Given the description of an element on the screen output the (x, y) to click on. 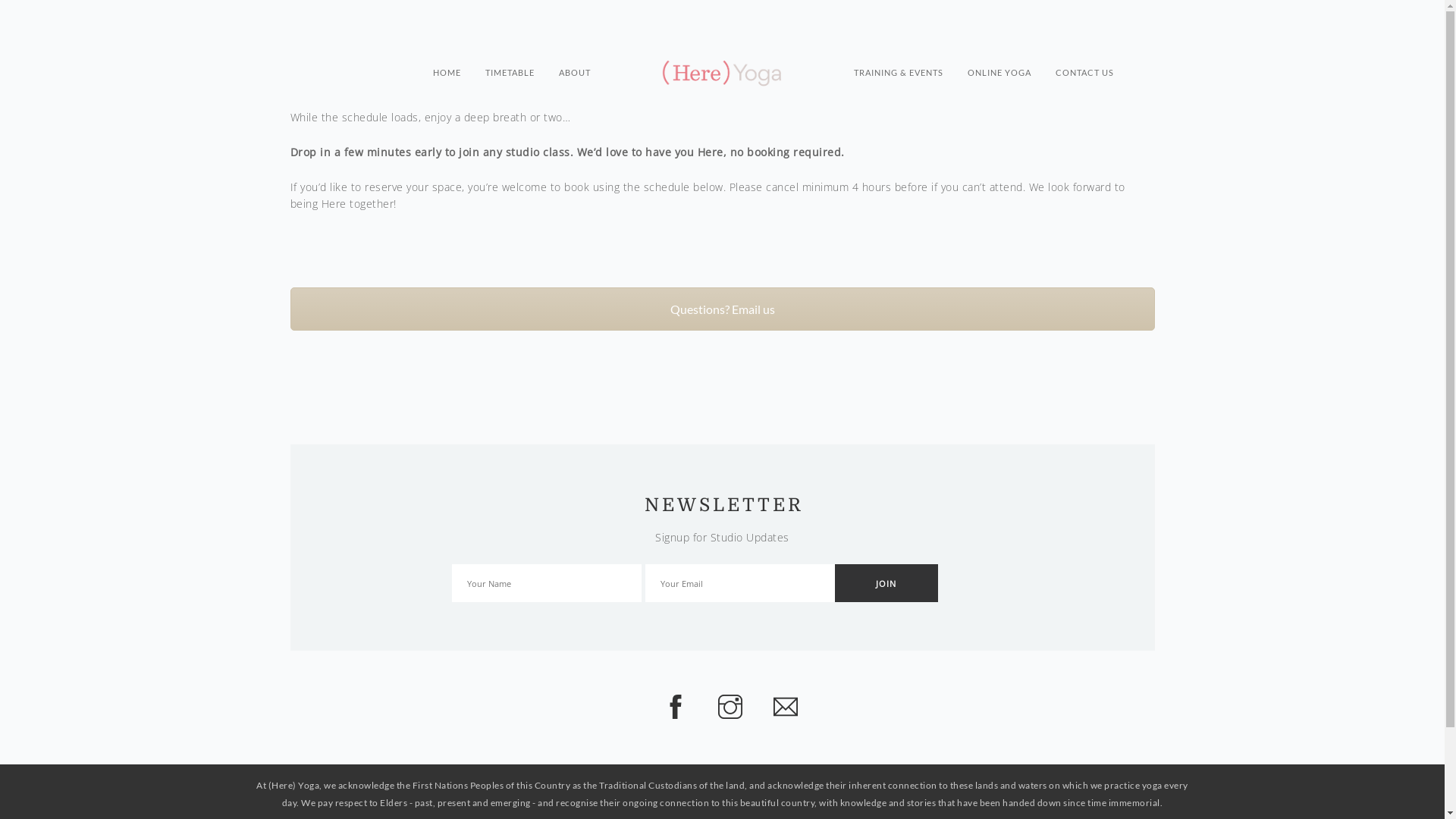
JOIN Element type: text (886, 583)
TIMETABLE Element type: text (509, 57)
CONTACT US Element type: text (1084, 57)
ABOUT Element type: text (574, 57)
Questions? Email us Element type: text (721, 308)
TRAINING & EVENTS Element type: text (898, 57)
HOME Element type: text (447, 57)
ONLINE YOGA Element type: text (999, 57)
